Given the description of an element on the screen output the (x, y) to click on. 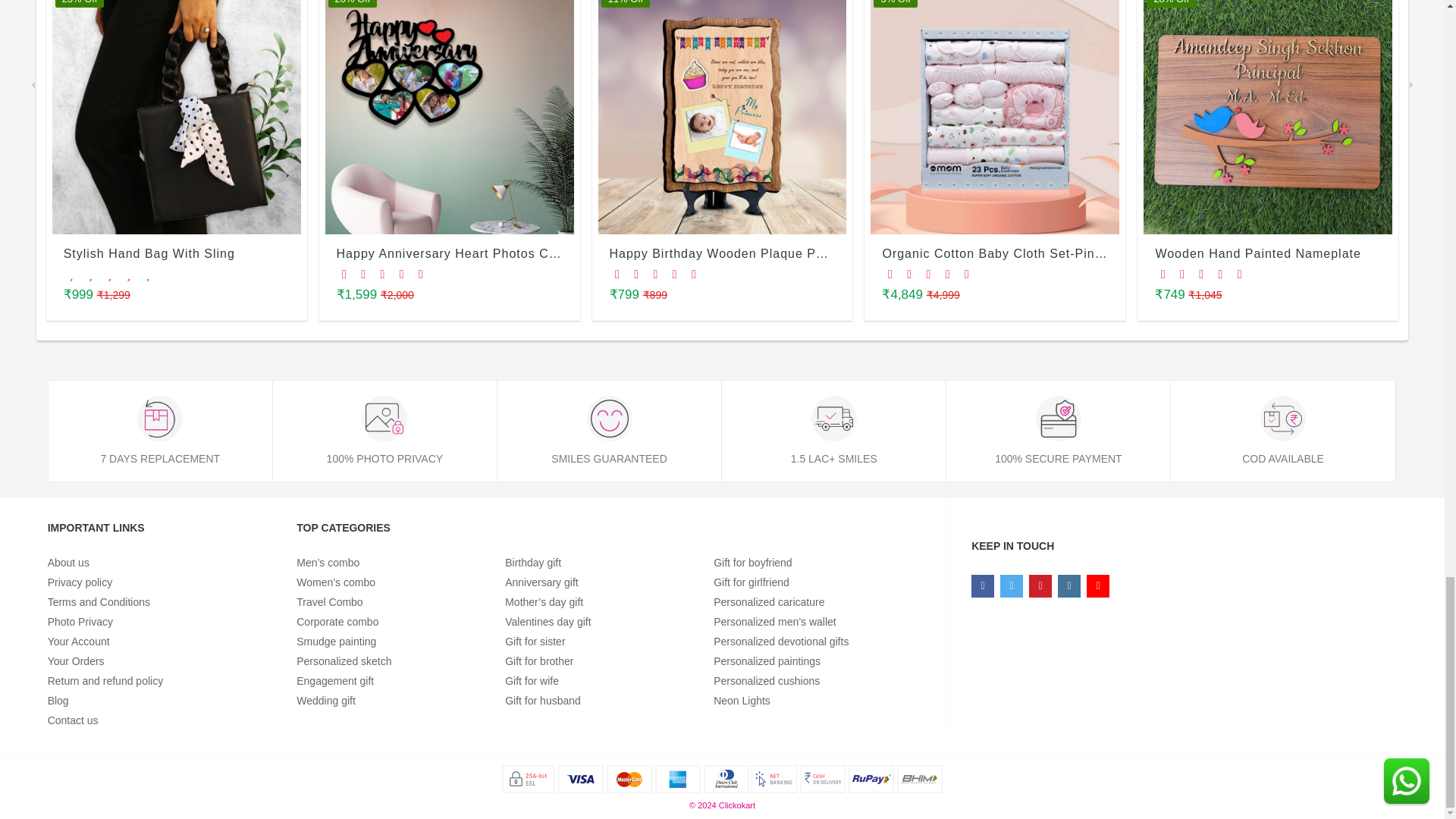
Happy Anniversary Heart Photos Collage (448, 117)
Wooden hand painted nameplate (1266, 117)
Stylish Hand Bag With Sling (176, 117)
Happy birthday wooden plaque photo (720, 117)
